Given the description of an element on the screen output the (x, y) to click on. 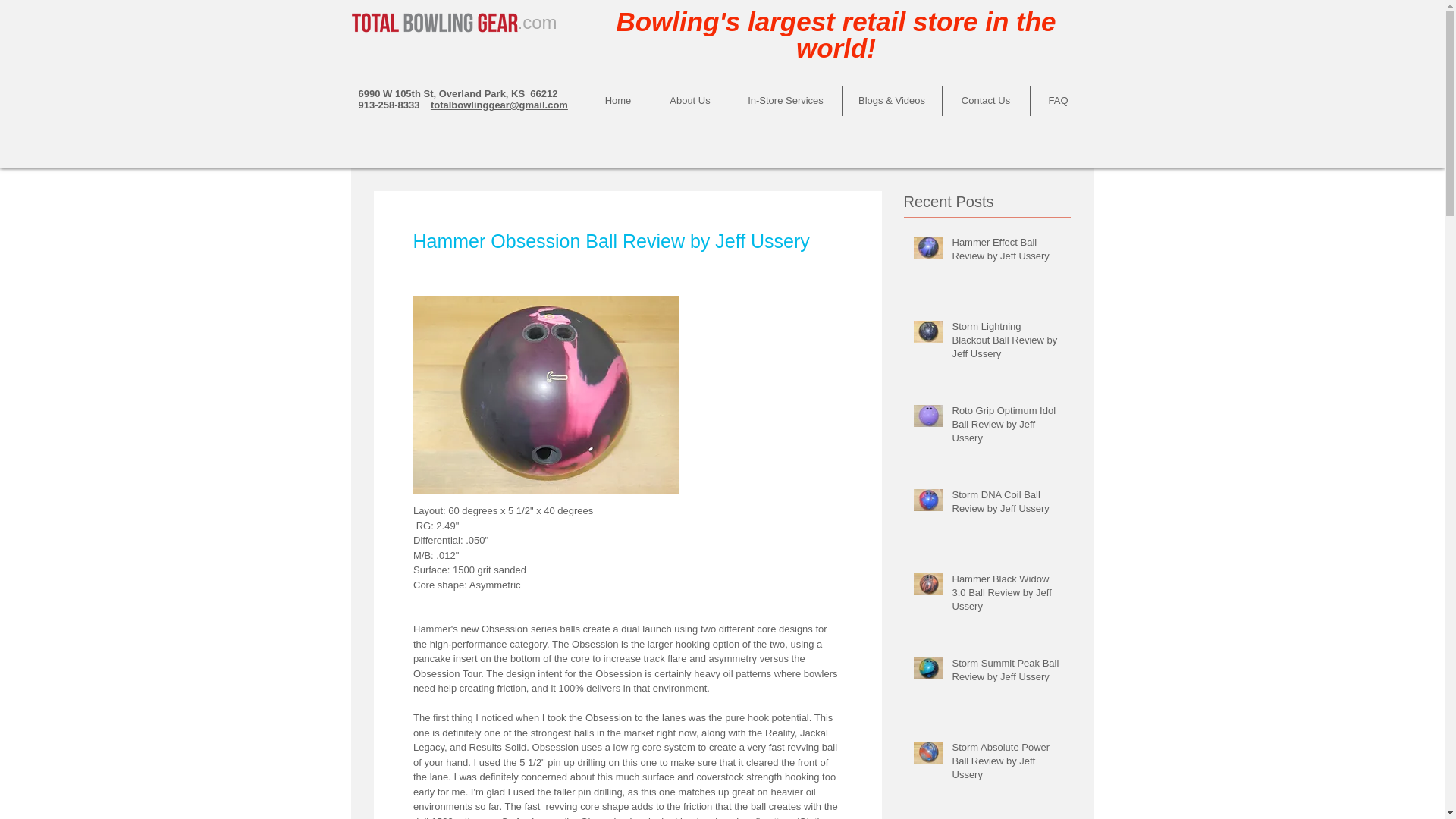
Storm Summit Peak Ball Review by Jeff Ussery (1006, 673)
Storm DNA Coil Ball Review by Jeff Ussery (1006, 504)
FAQ (1057, 100)
Hammer Black Widow 3.0 Ball Review by Jeff Ussery (1006, 595)
TotalBowling.png (433, 22)
In-Store Services (785, 100)
About Us (689, 100)
Storm Absolute Power Ball Review by Jeff Ussery (1006, 764)
Hammer Effect Ball Review by Jeff Ussery (1006, 252)
Home (617, 100)
